Given the description of an element on the screen output the (x, y) to click on. 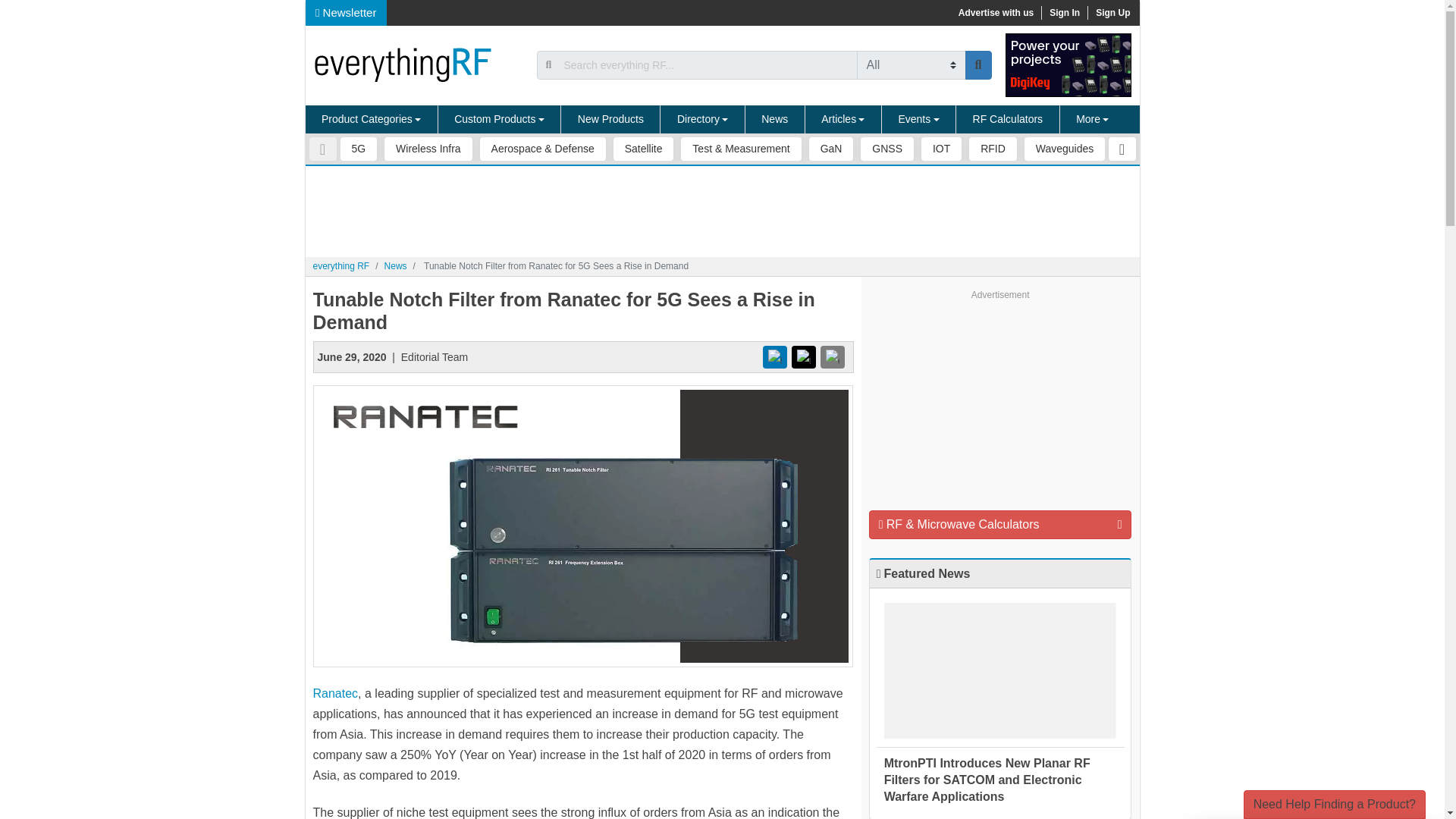
Advertise with us (995, 12)
Product Categories (371, 119)
Newsletter (345, 12)
Sign Up (1112, 12)
Sign In (1064, 12)
